Given the description of an element on the screen output the (x, y) to click on. 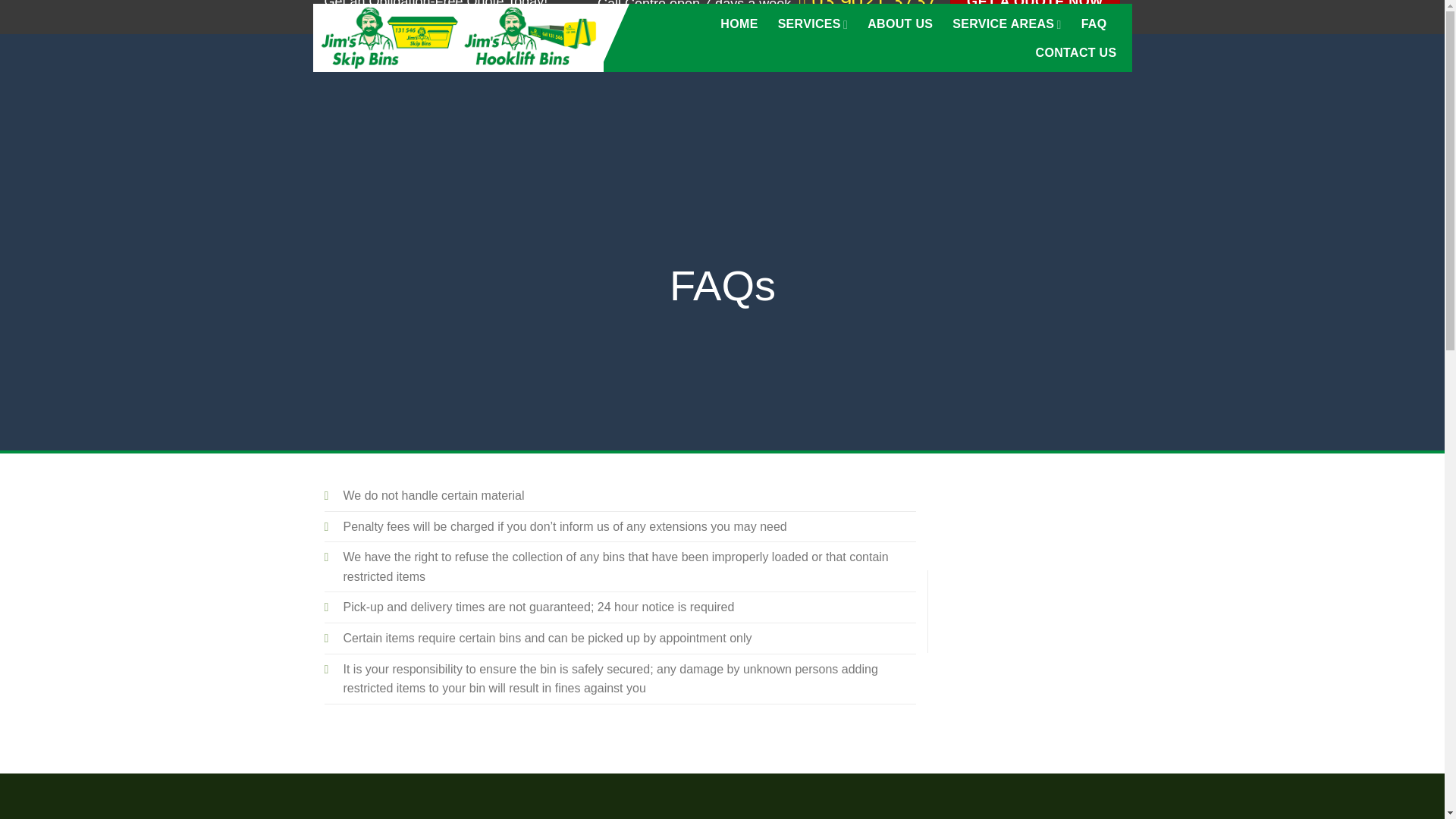
CONTACT US (1075, 52)
GET A QUOTE NOW (1035, 9)
03 9021 3737 (867, 6)
ABOUT US (900, 23)
FAQ (1093, 23)
SERVICES (812, 24)
HOME (738, 23)
SERVICE AREAS (1006, 24)
